Given the description of an element on the screen output the (x, y) to click on. 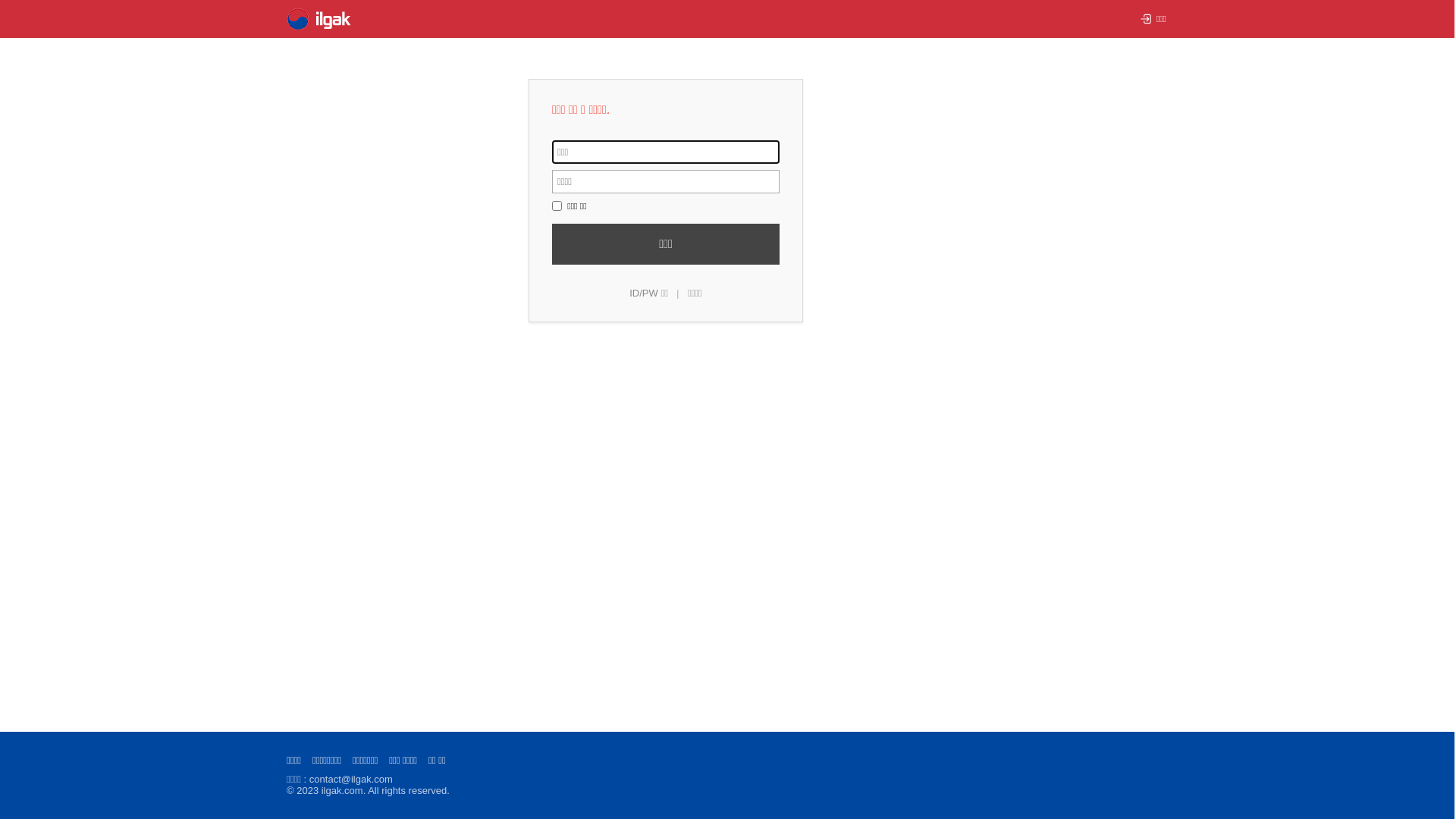
Y Element type: text (556, 205)
